Given the description of an element on the screen output the (x, y) to click on. 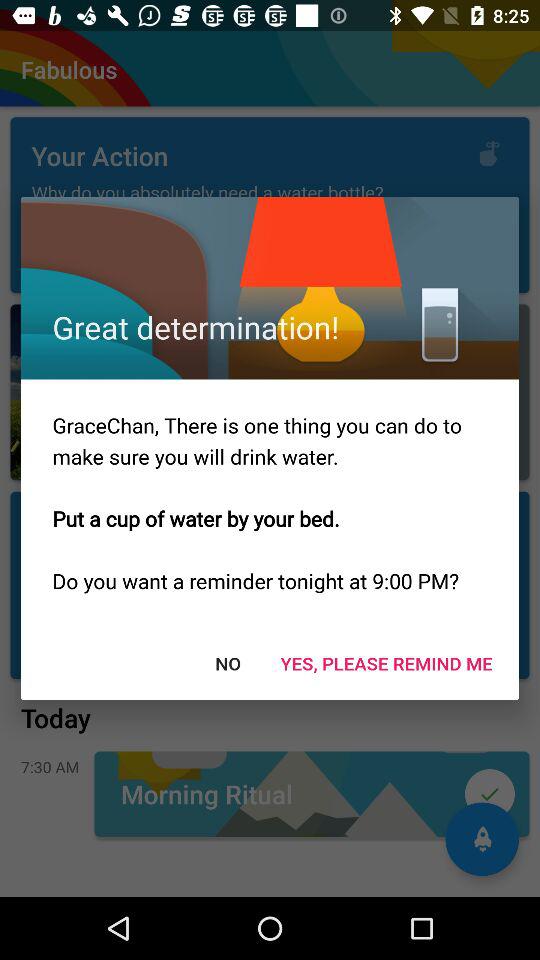
turn off the no icon (228, 662)
